Given the description of an element on the screen output the (x, y) to click on. 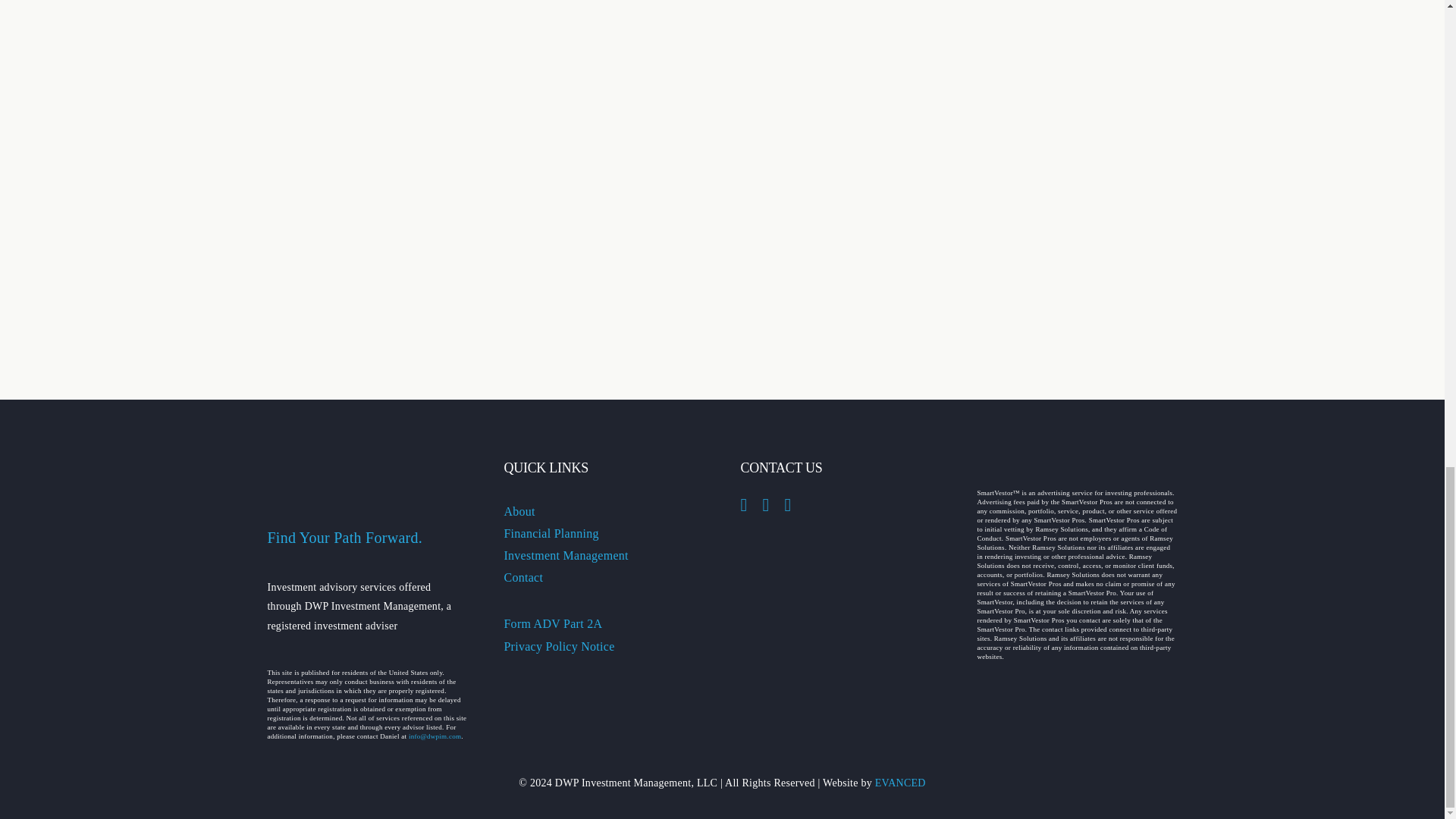
Financial Planning (550, 533)
About (518, 511)
Contact (523, 576)
EVANCED (900, 782)
dwpim-logo (366, 468)
Form ADV Part 2A (552, 623)
smartvestor-logo (1071, 466)
Investment Management (565, 554)
Privacy Policy Notice (558, 645)
